Given the description of an element on the screen output the (x, y) to click on. 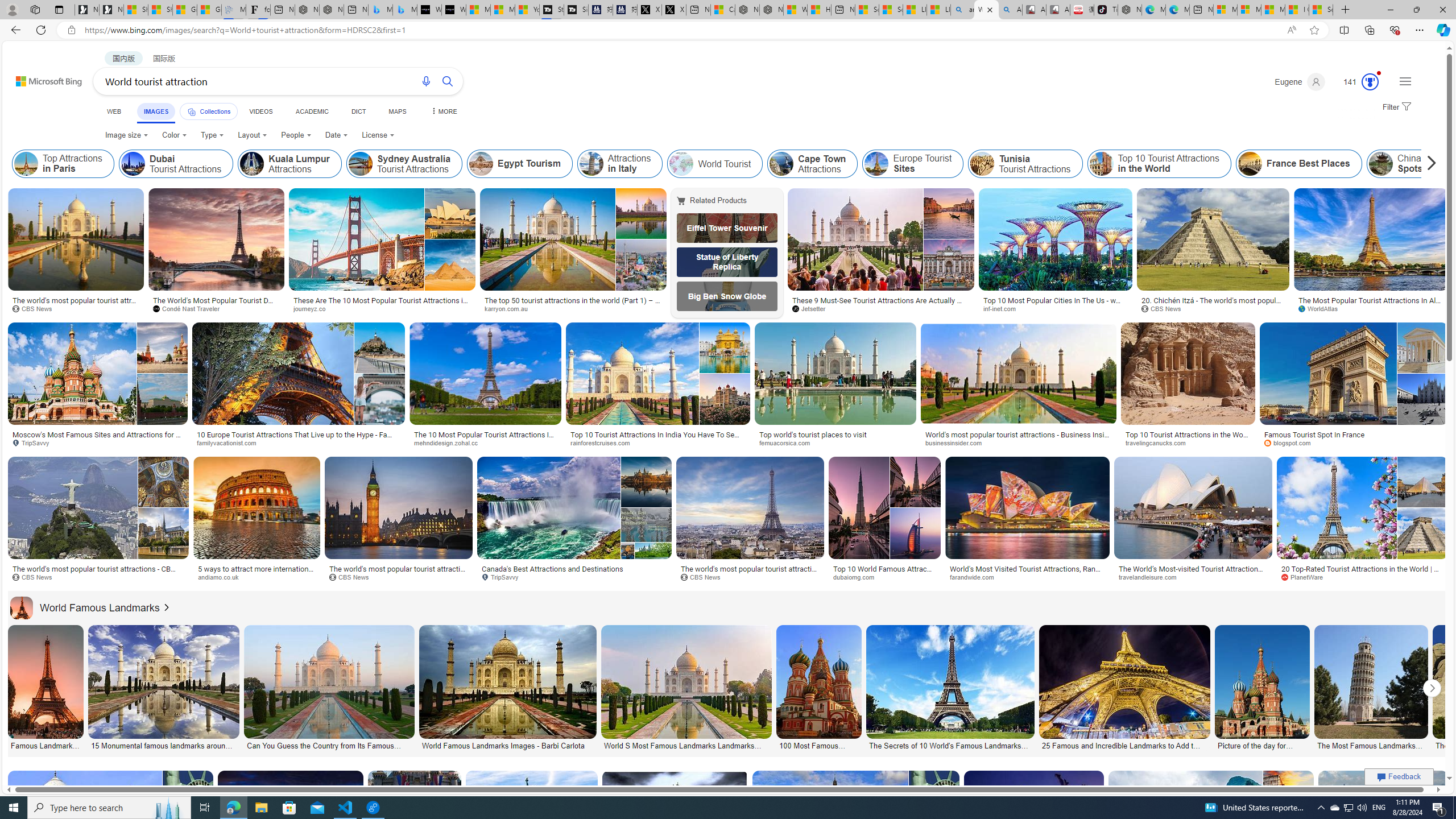
Europe Tourist Sites (913, 163)
Image size (127, 135)
Class: b_pri_nav_svg (191, 112)
Streaming Coverage | T3 (551, 9)
Dubai Tourist Attractions (175, 163)
TikTok (1105, 9)
karryon.com.au (573, 308)
Class: outer-circle-animation (1369, 81)
dubaiomg.com (884, 576)
Search using voice (426, 80)
